Given the description of an element on the screen output the (x, y) to click on. 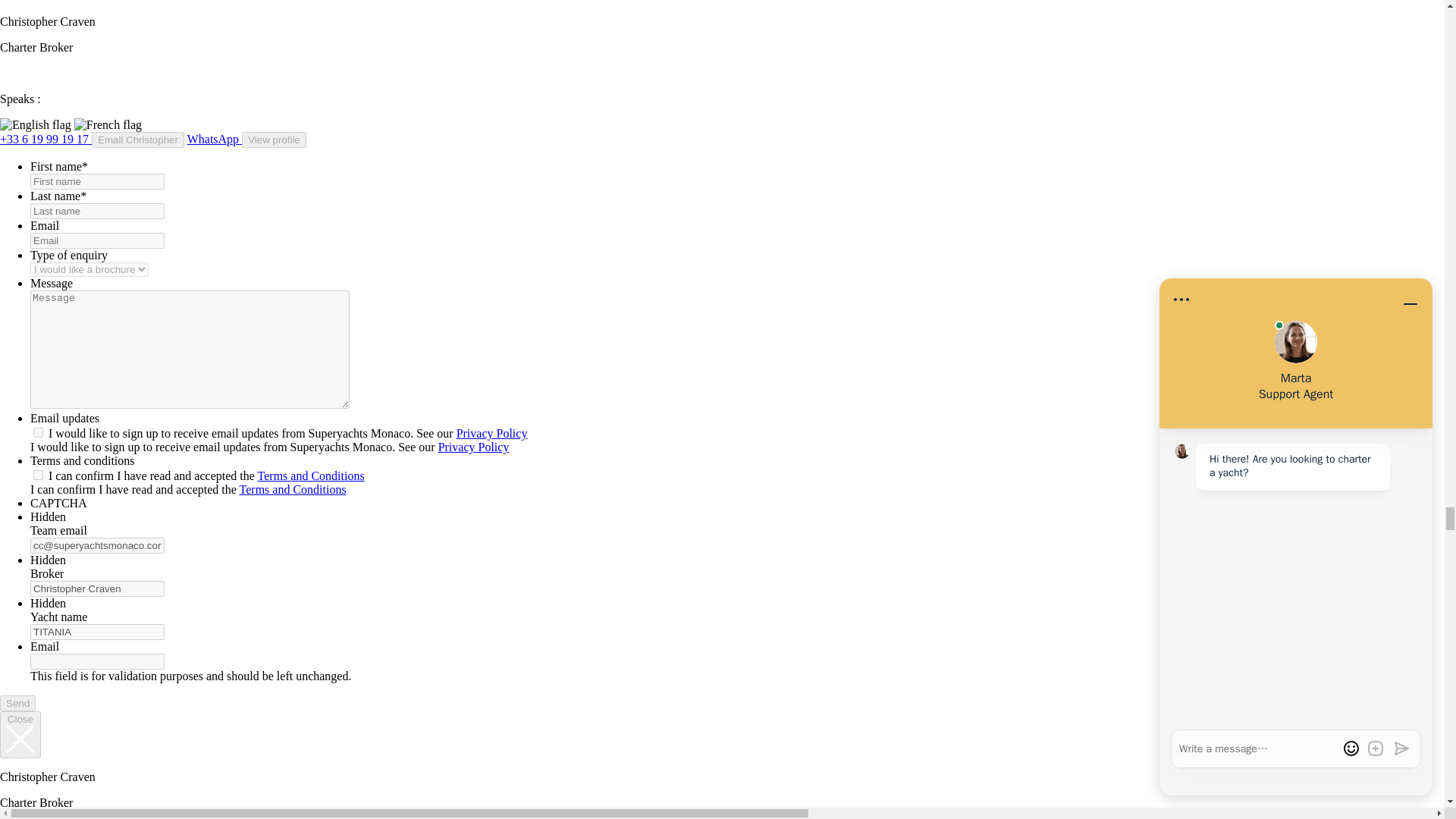
Christopher Craven (97, 588)
1 (38, 474)
1 (38, 432)
TITANIA (97, 631)
